Given the description of an element on the screen output the (x, y) to click on. 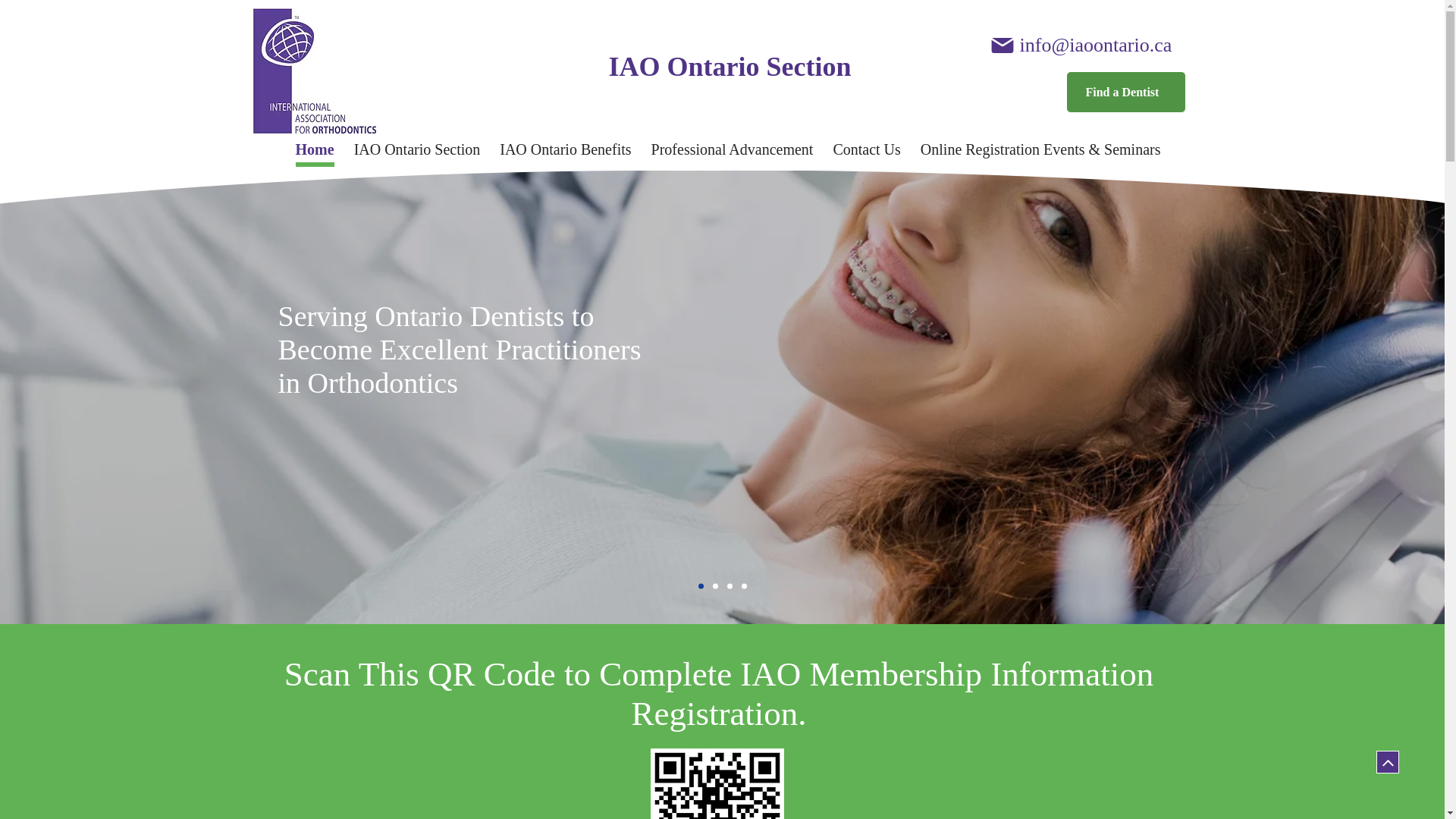
Contact Us (865, 152)
IAO Ontario Section (729, 65)
Home (314, 152)
Find a Dentist (1125, 92)
